Given the description of an element on the screen output the (x, y) to click on. 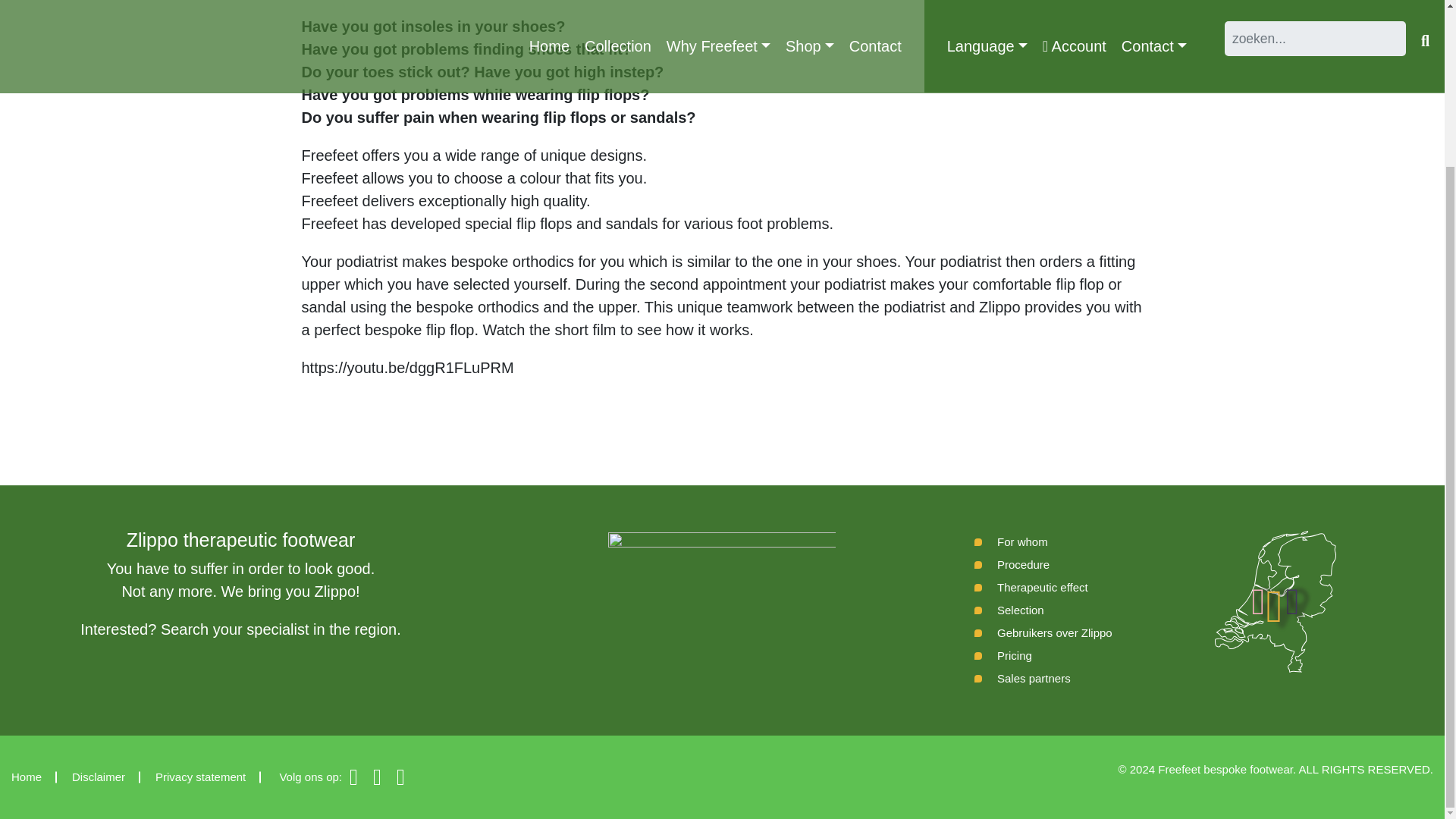
Gebruikers over Zlippo (1043, 632)
Procedure (1011, 564)
For whom (1011, 541)
Sales partners (1022, 678)
Pricing (1003, 655)
Therapeutic effect (1030, 587)
Selection (1008, 609)
